Given the description of an element on the screen output the (x, y) to click on. 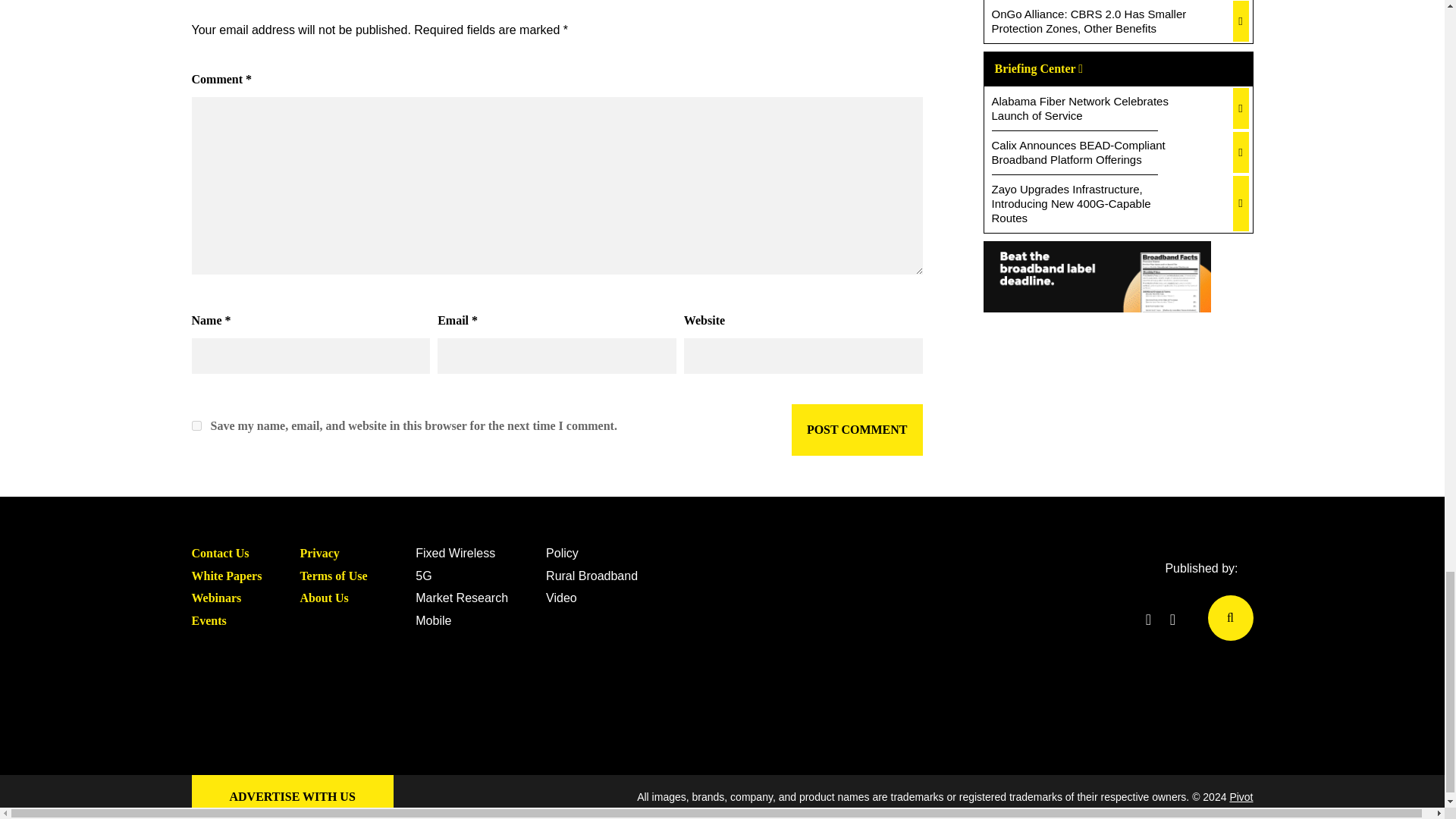
Post Comment (857, 429)
yes (195, 425)
